Given the description of an element on the screen output the (x, y) to click on. 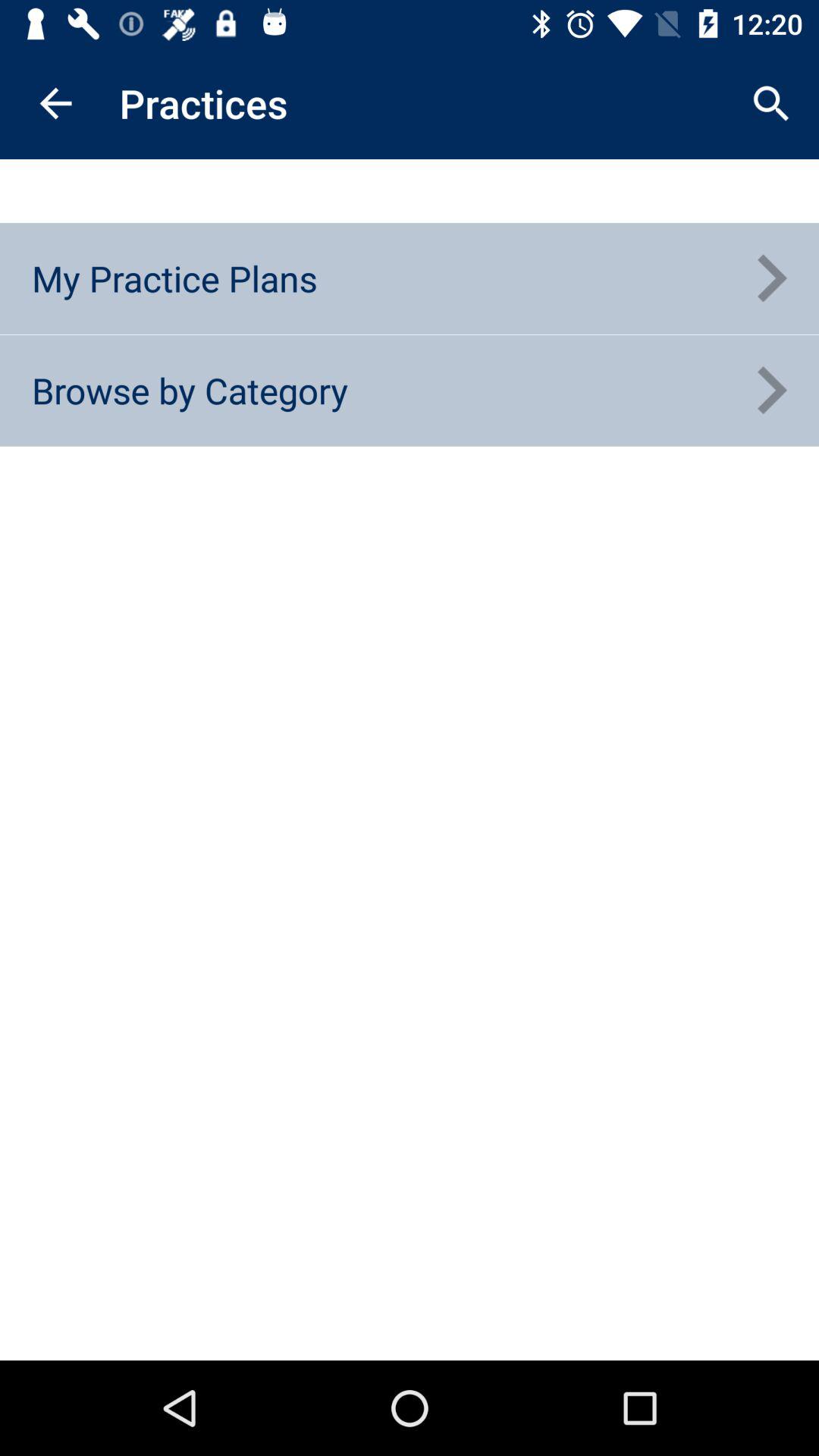
select the app to the right of practices (771, 103)
